Given the description of an element on the screen output the (x, y) to click on. 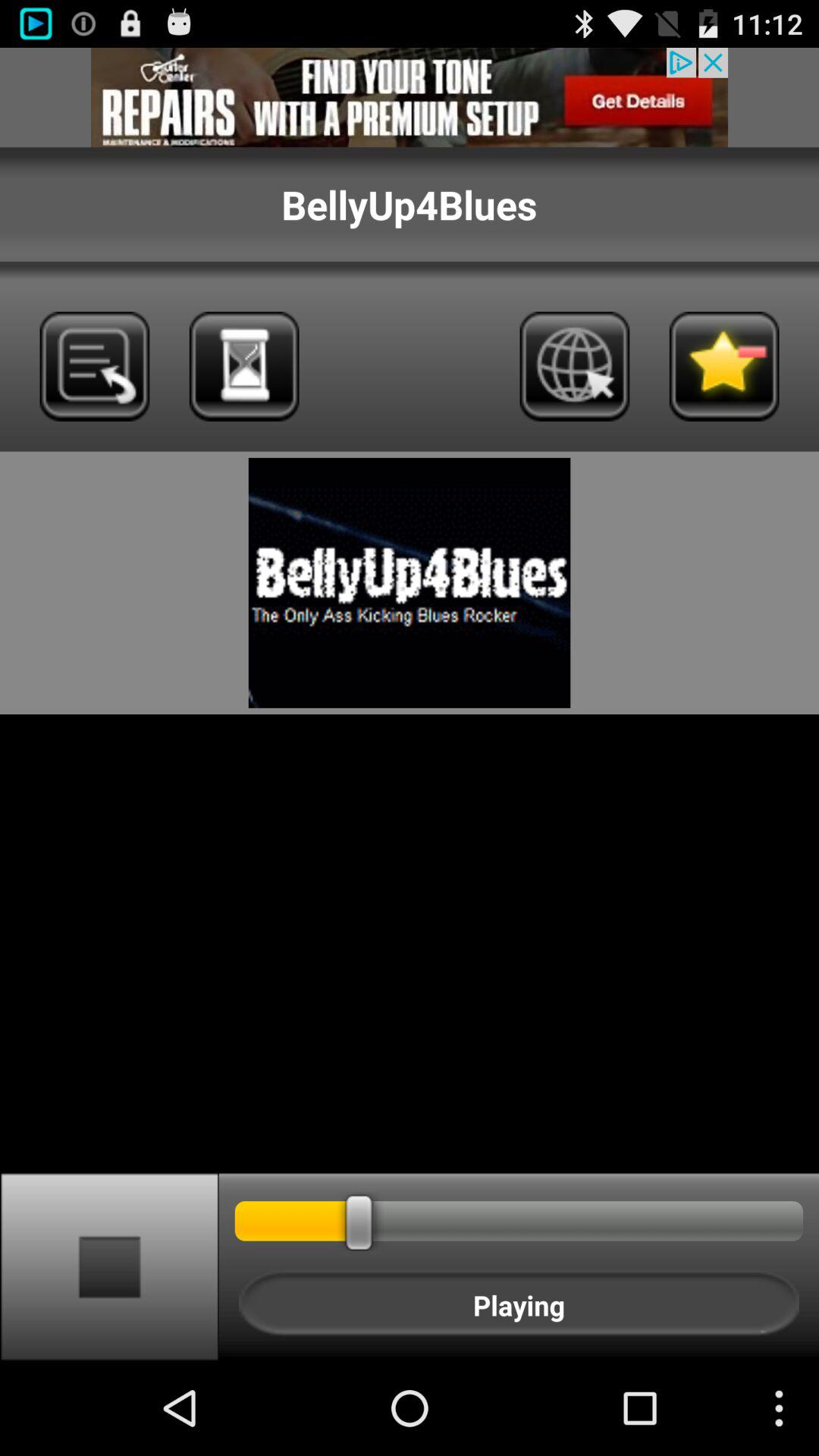
click advertisement (409, 97)
